Given the description of an element on the screen output the (x, y) to click on. 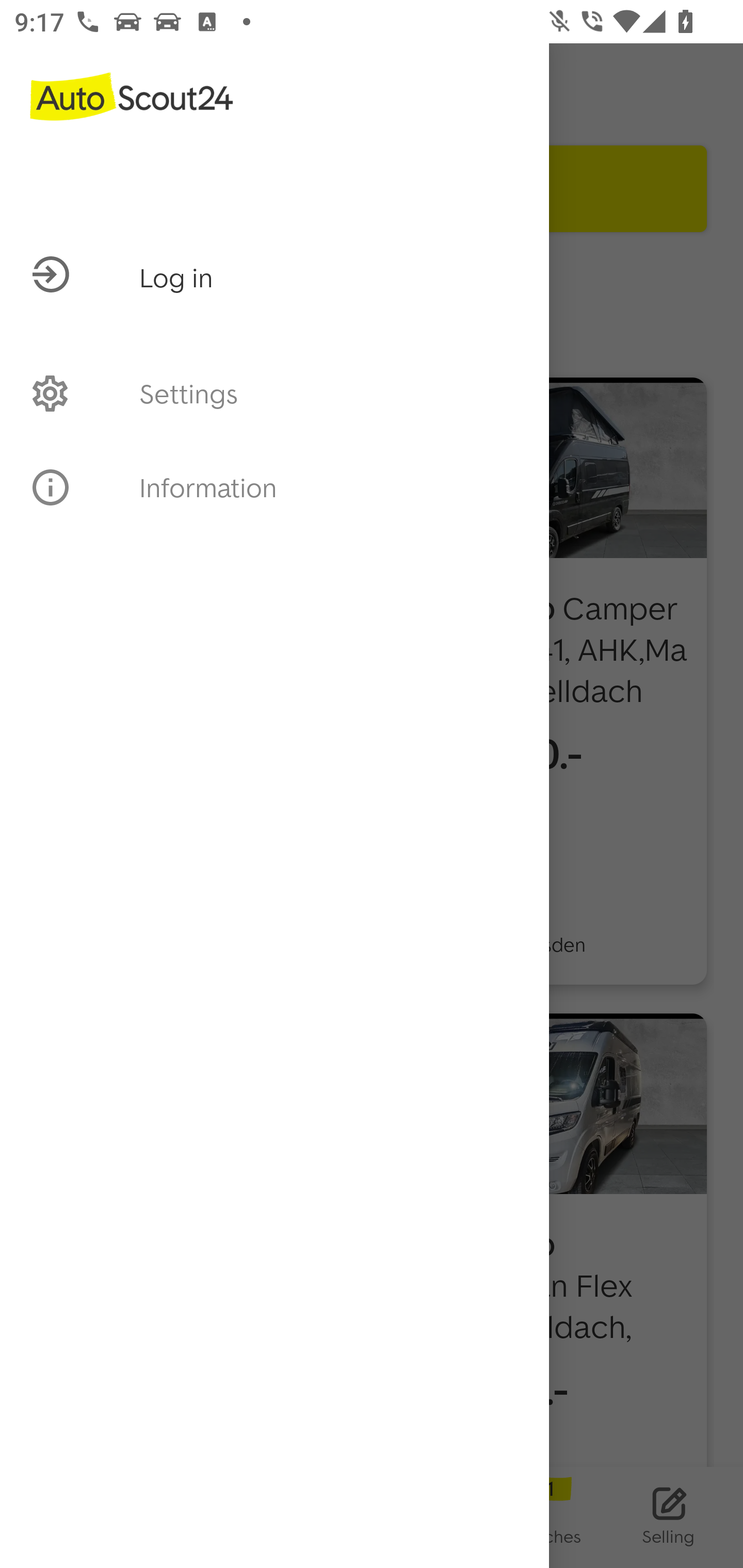
PROFILE Settings (274, 393)
INFO Information (274, 487)
